Given the description of an element on the screen output the (x, y) to click on. 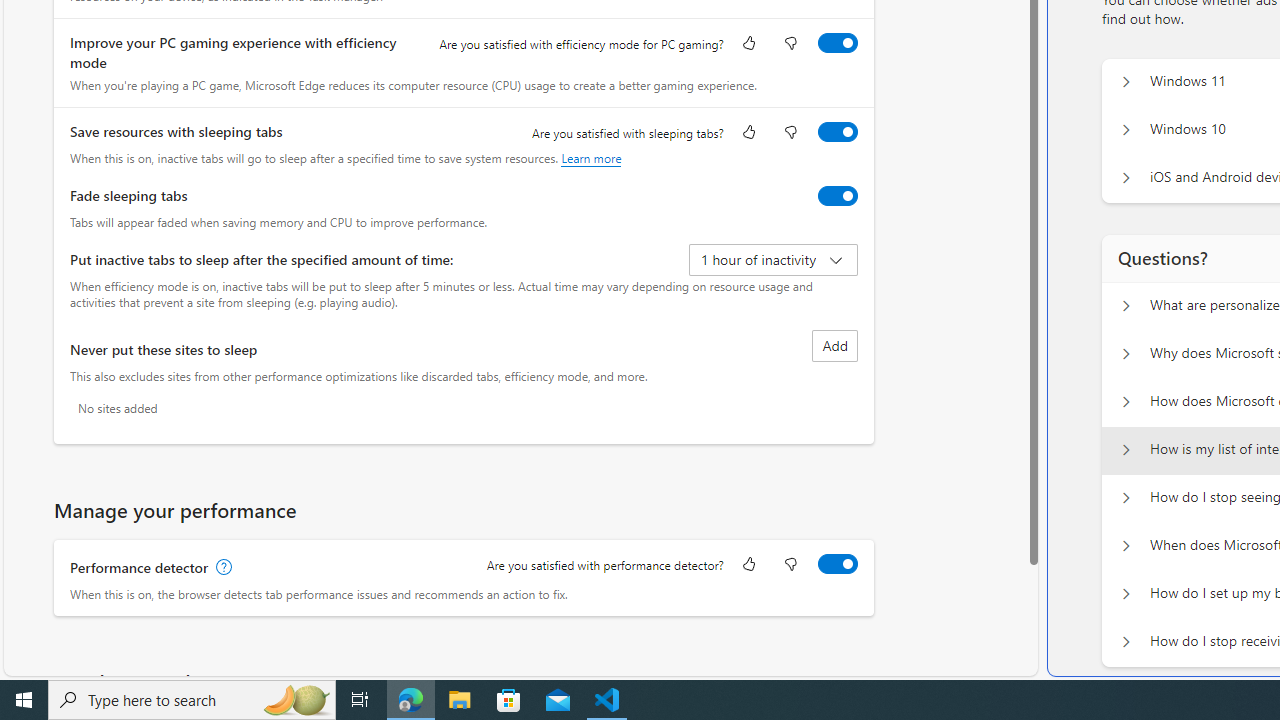
Questions? Why does Microsoft show personalized ads? (1125, 353)
Manage personalized ads on your device Windows 11 (1125, 82)
Performance detector, learn more (221, 567)
Like (748, 565)
